Given the description of an element on the screen output the (x, y) to click on. 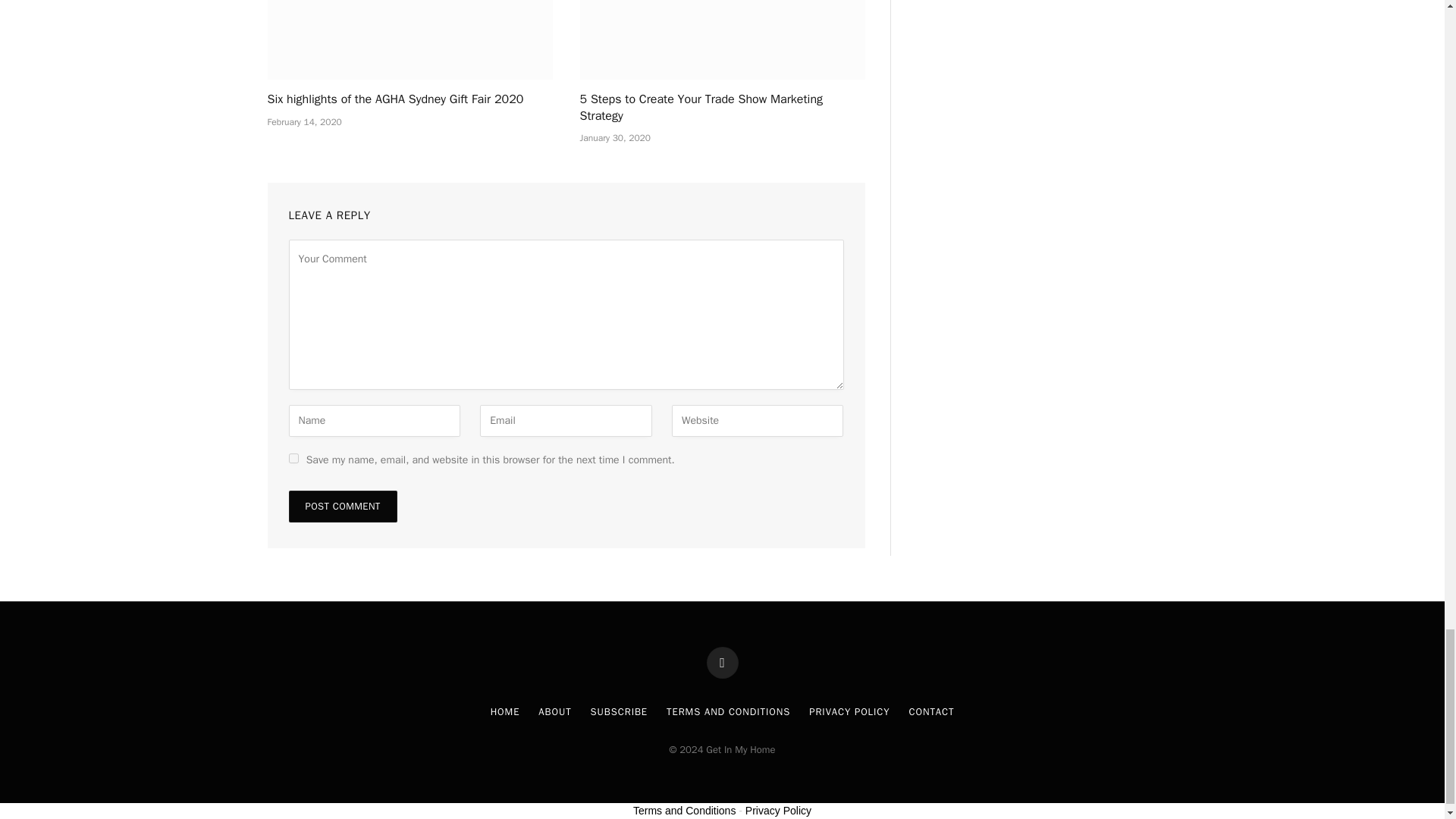
Post Comment (342, 506)
yes (293, 458)
